Given the description of an element on the screen output the (x, y) to click on. 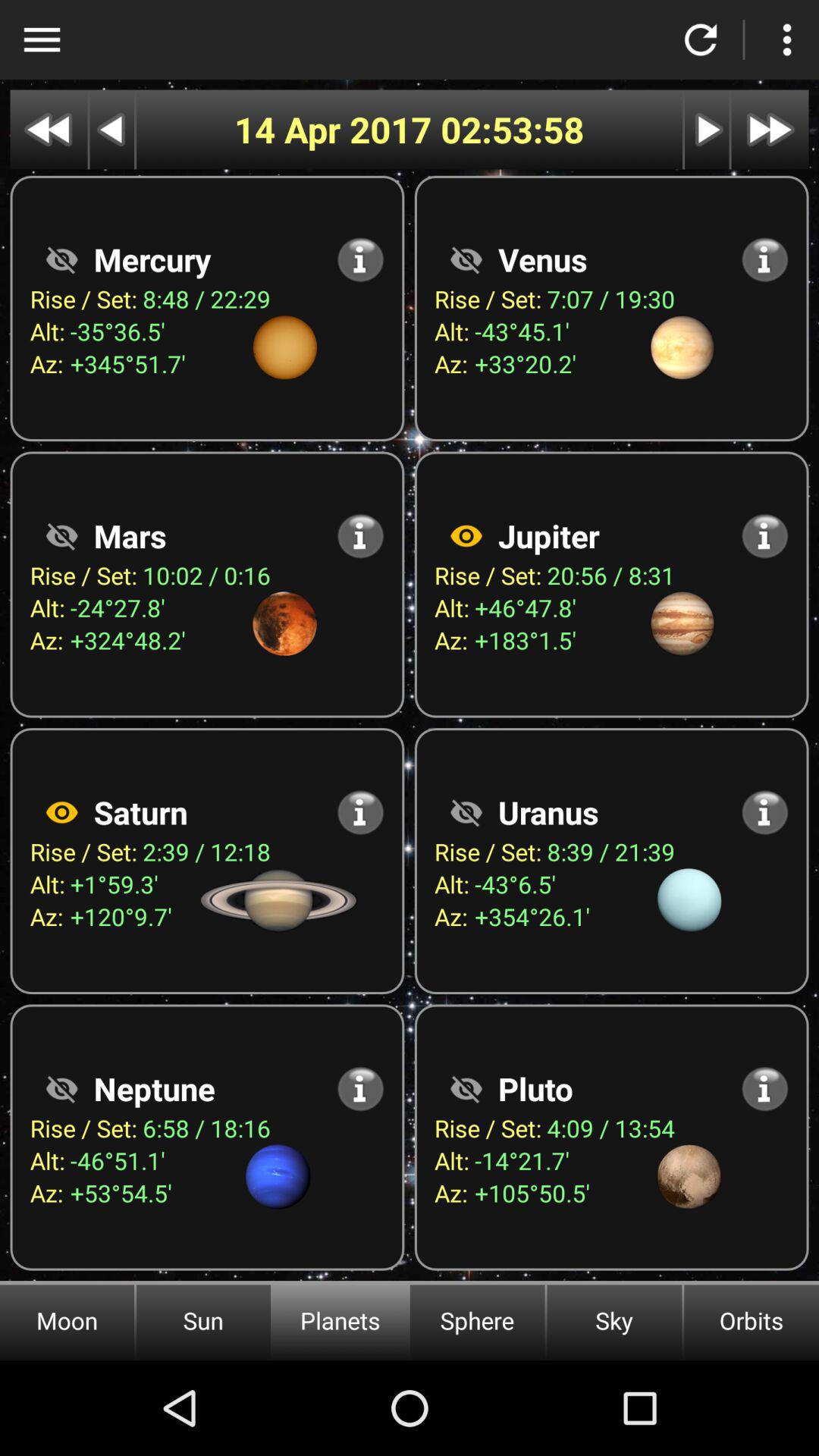
hide/make visible (61, 1088)
